Given the description of an element on the screen output the (x, y) to click on. 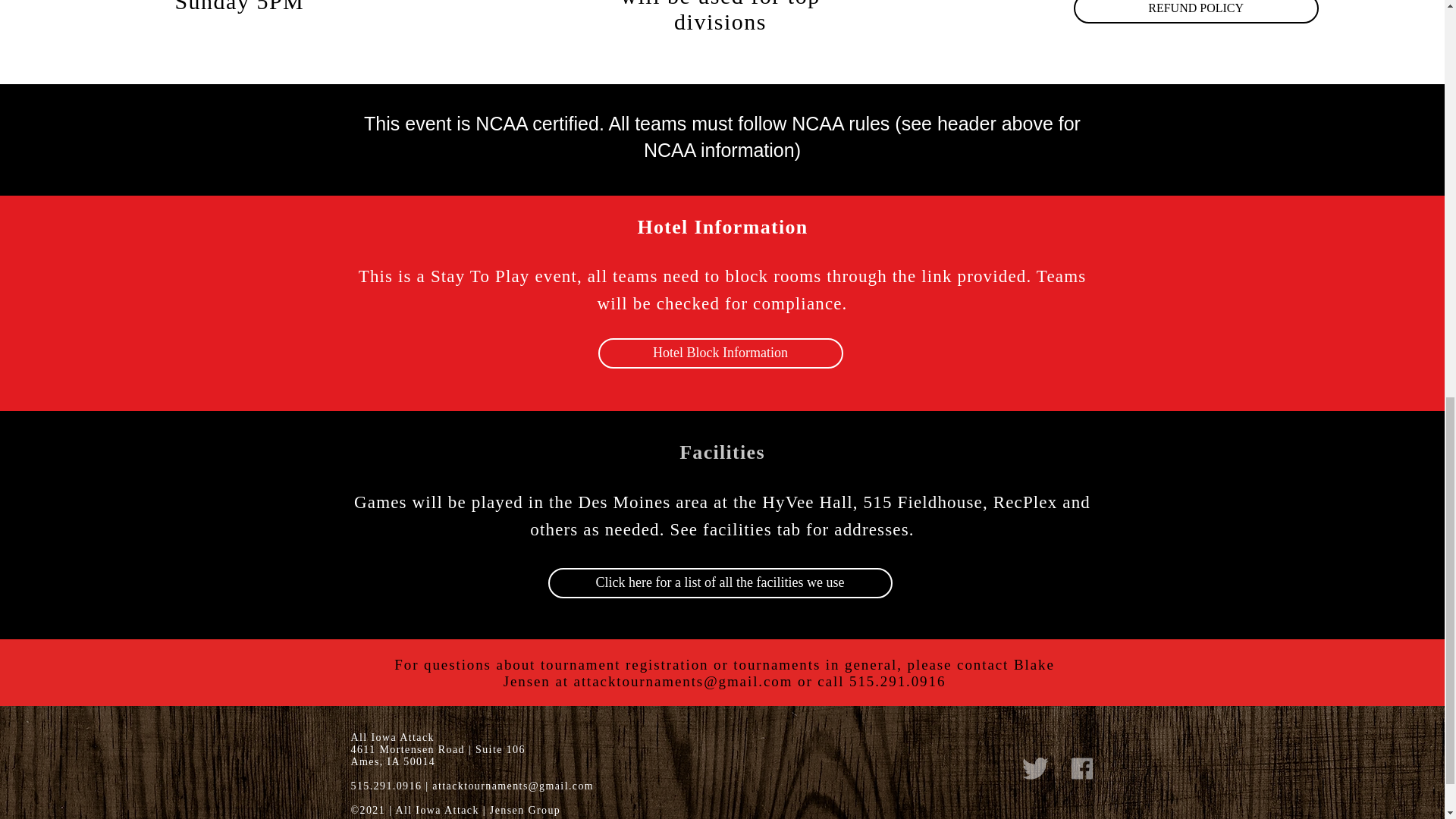
515.291.0916 (386, 785)
515.291.0916 (896, 681)
Jensen Group (524, 809)
REFUND POLICY (1196, 11)
Click here for a list of all the facilities we use (719, 583)
Hotel Block Information (719, 353)
All Iowa Attack (436, 809)
